Given the description of an element on the screen output the (x, y) to click on. 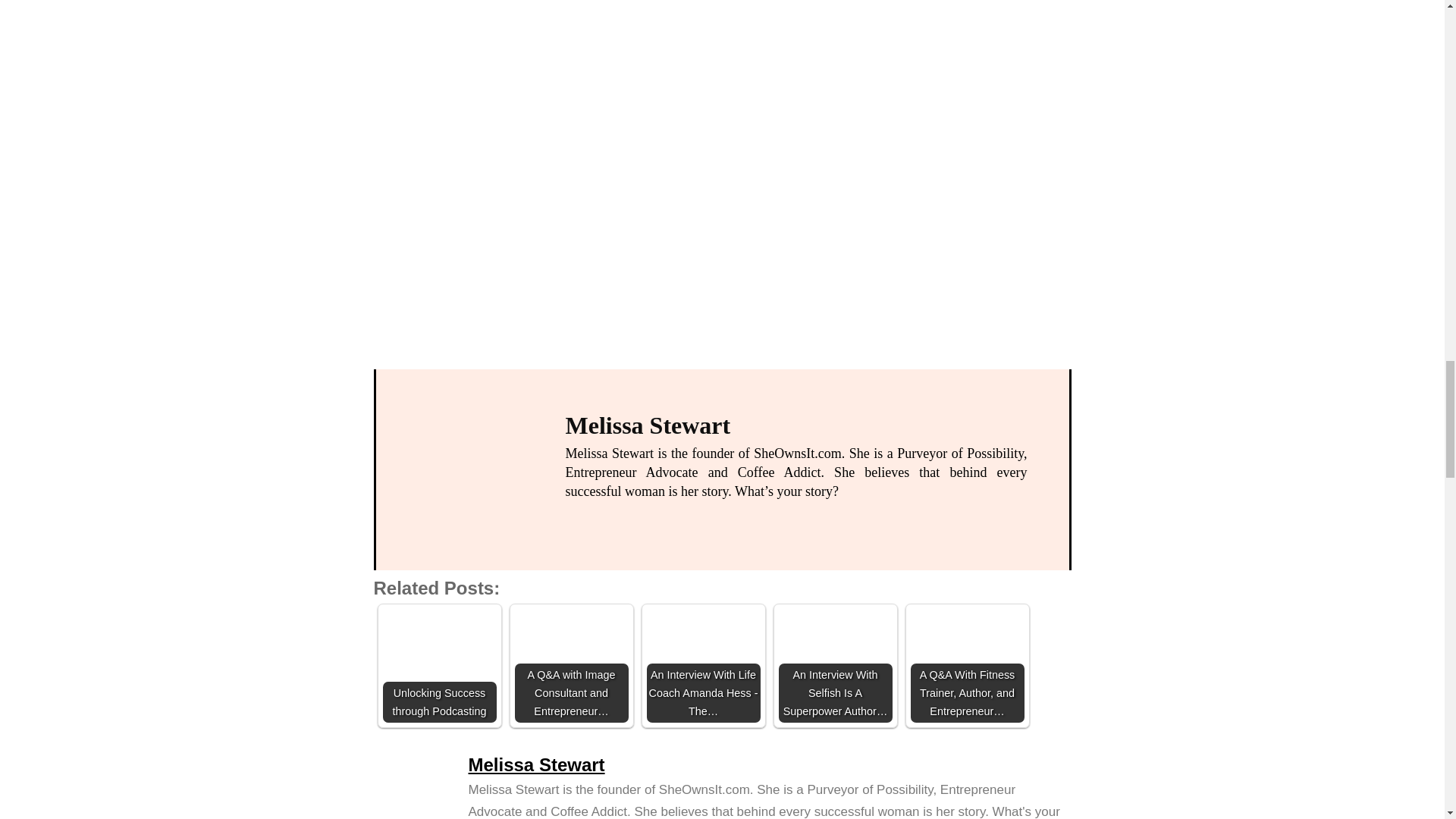
Unlocking Success through Podcasting (438, 665)
